Given the description of an element on the screen output the (x, y) to click on. 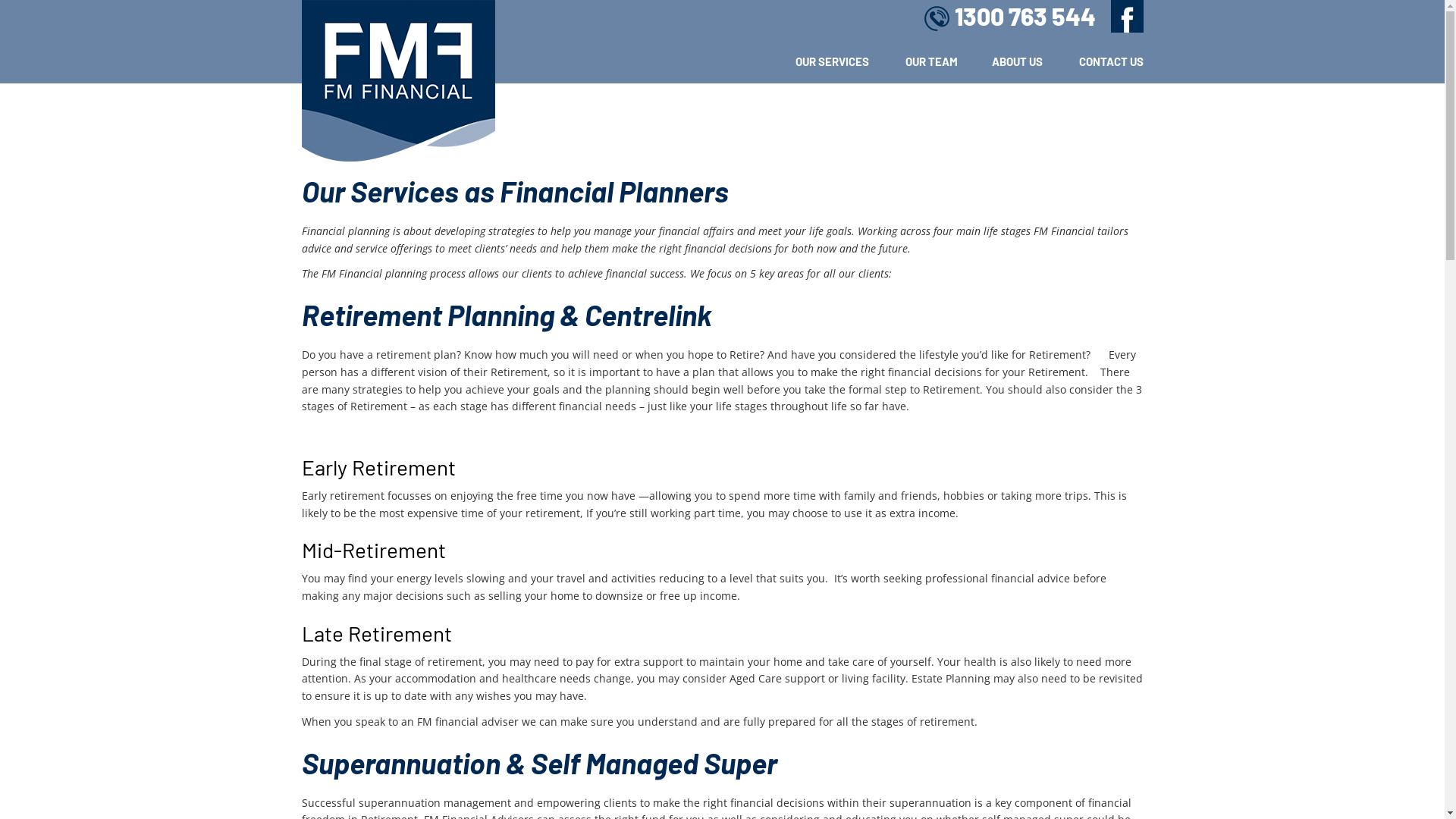
1300 763 544 Element type: text (1009, 21)
OUR TEAM Element type: text (913, 61)
ABOUT US  Element type: text (1000, 61)
CONTACT US Element type: text (1093, 61)
OUR SERVICES  Element type: text (816, 61)
